Given the description of an element on the screen output the (x, y) to click on. 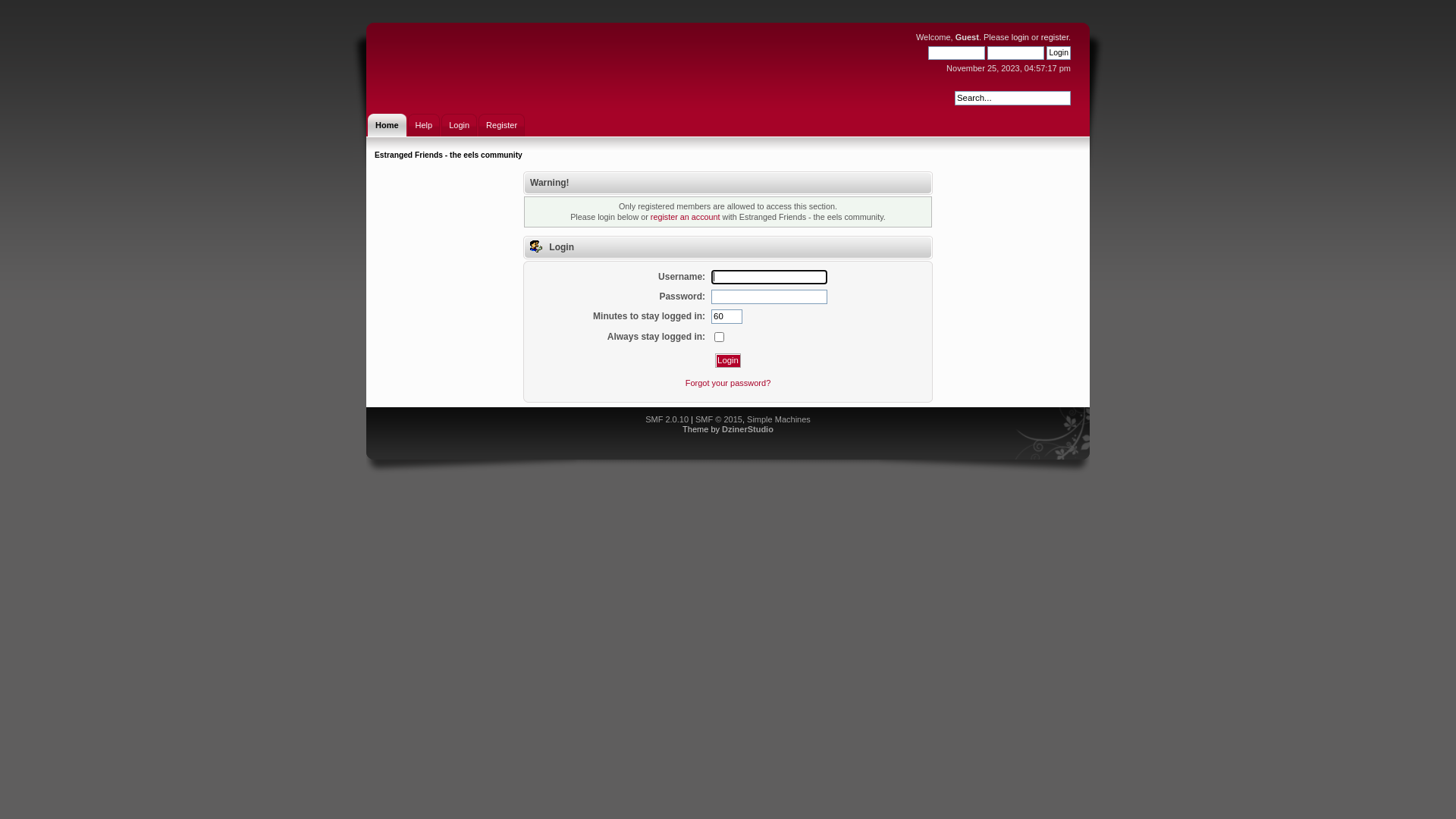
DzinerStudio Element type: text (747, 428)
login Element type: text (1020, 36)
Home Element type: text (386, 124)
on Element type: text (719, 337)
Register Element type: text (501, 124)
Login Element type: text (727, 360)
Estranged Friends - the eels community Element type: text (448, 154)
Login Element type: text (1058, 52)
Login Element type: text (458, 124)
SMF 2.0.10 Element type: text (666, 418)
Forgot your password? Element type: text (728, 382)
register Element type: text (1054, 36)
register an account Element type: text (685, 216)
Help Element type: text (423, 124)
Simple Machines Element type: text (778, 418)
